Given the description of an element on the screen output the (x, y) to click on. 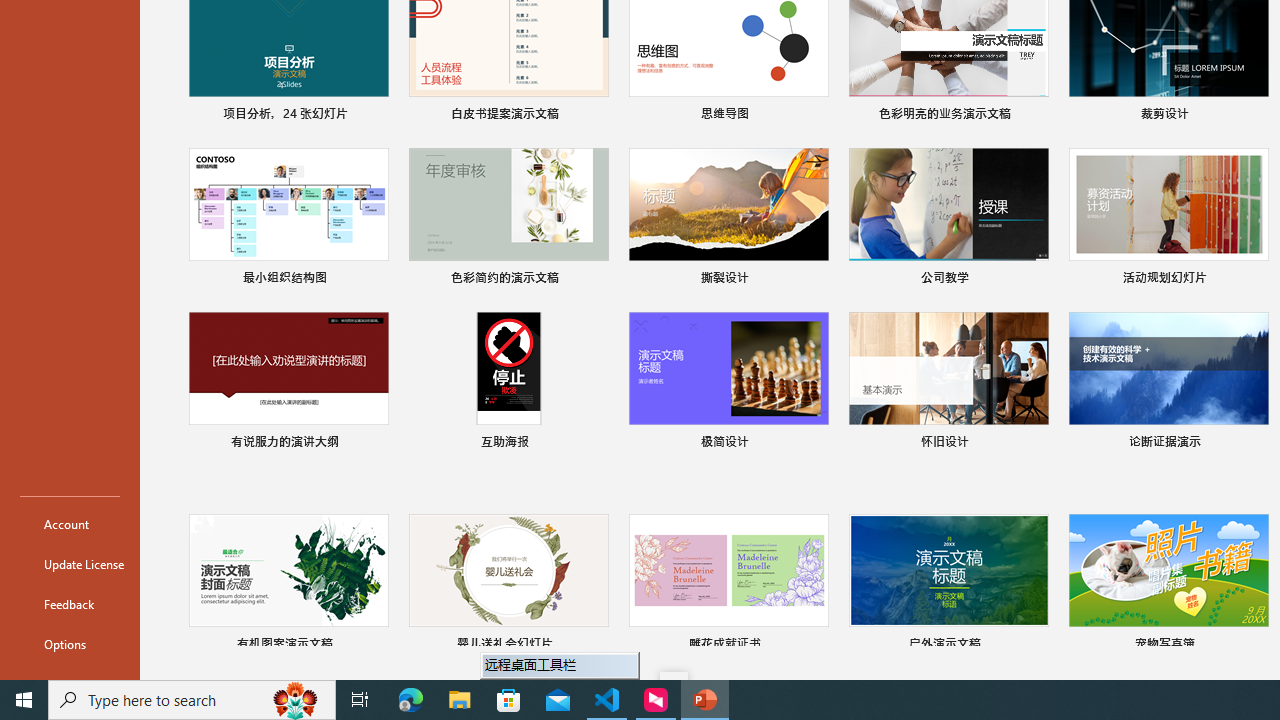
Options (69, 643)
Feedback (69, 603)
